Given the description of an element on the screen output the (x, y) to click on. 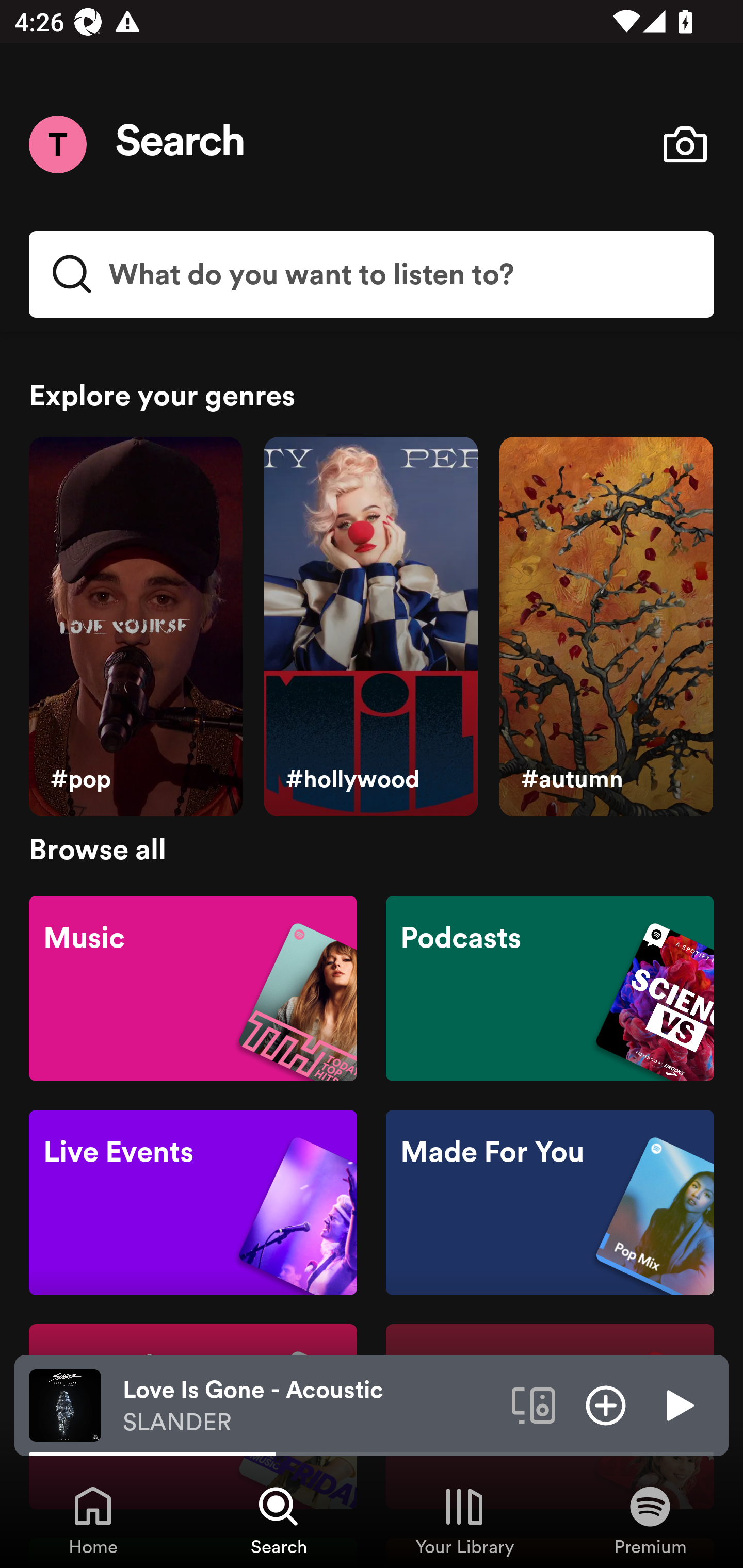
Menu (57, 144)
Open camera (685, 145)
Search (180, 144)
#pop (135, 626)
#hollywood (370, 626)
#autumn (606, 626)
Music (192, 987)
Podcasts (549, 987)
Live Events (192, 1202)
Made For You (549, 1202)
Love Is Gone - Acoustic SLANDER (309, 1405)
The cover art of the currently playing track (64, 1404)
Connect to a device. Opens the devices menu (533, 1404)
Add item (605, 1404)
Play (677, 1404)
Home, Tab 1 of 4 Home Home (92, 1519)
Search, Tab 2 of 4 Search Search (278, 1519)
Your Library, Tab 3 of 4 Your Library Your Library (464, 1519)
Premium, Tab 4 of 4 Premium Premium (650, 1519)
